Given the description of an element on the screen output the (x, y) to click on. 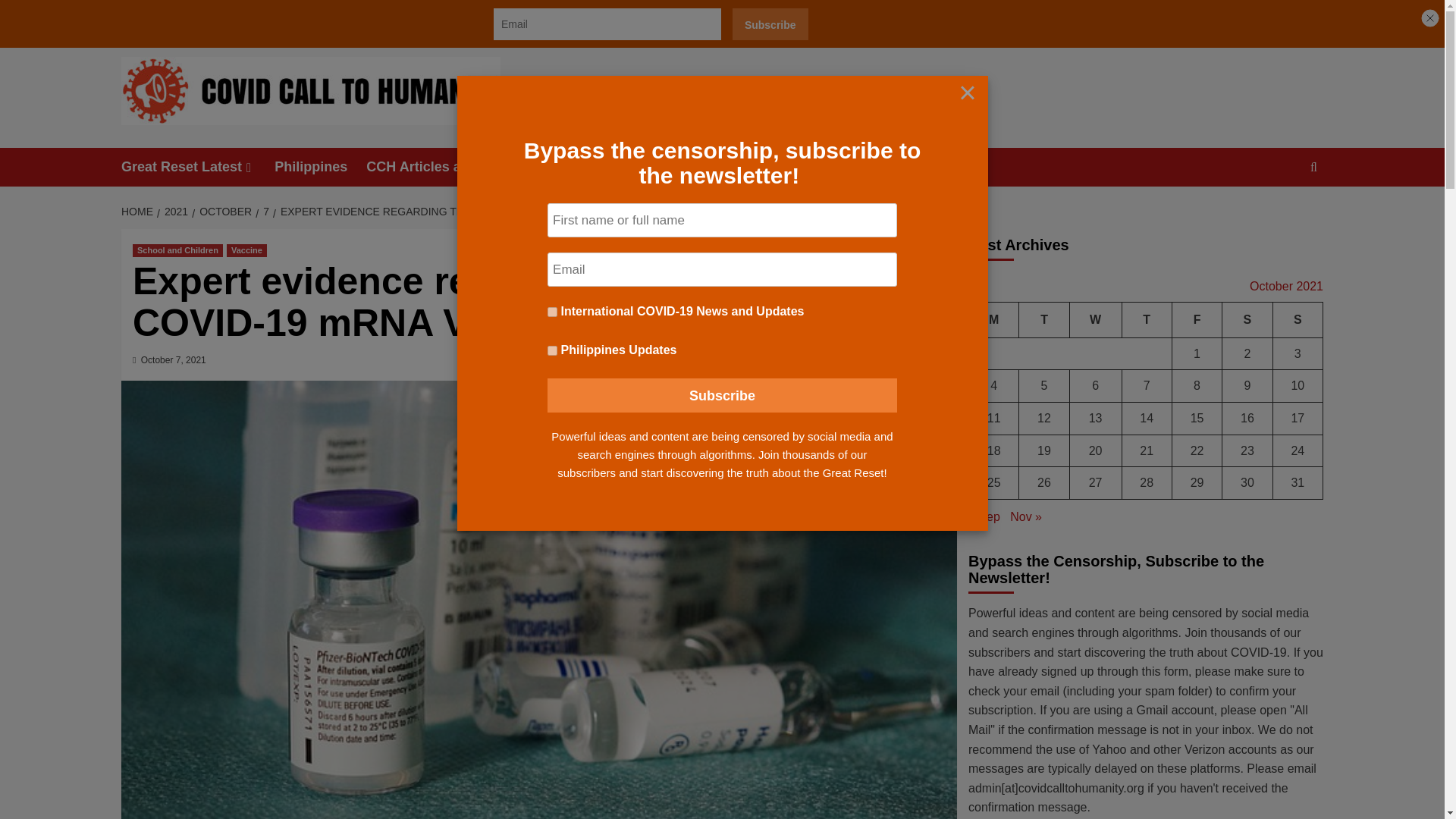
4 (552, 350)
Thursday (1146, 320)
FAQ (419, 17)
Saturday (1247, 320)
1 (552, 311)
Tuesday (1043, 320)
Friday (1196, 320)
Subscribe (770, 24)
Wednesday (1094, 320)
ABOUT (235, 17)
Sunday (1297, 320)
Monday (994, 320)
NEWSLETTER ARCHIVE (328, 17)
Great Reset Latest (197, 167)
